Given the description of an element on the screen output the (x, y) to click on. 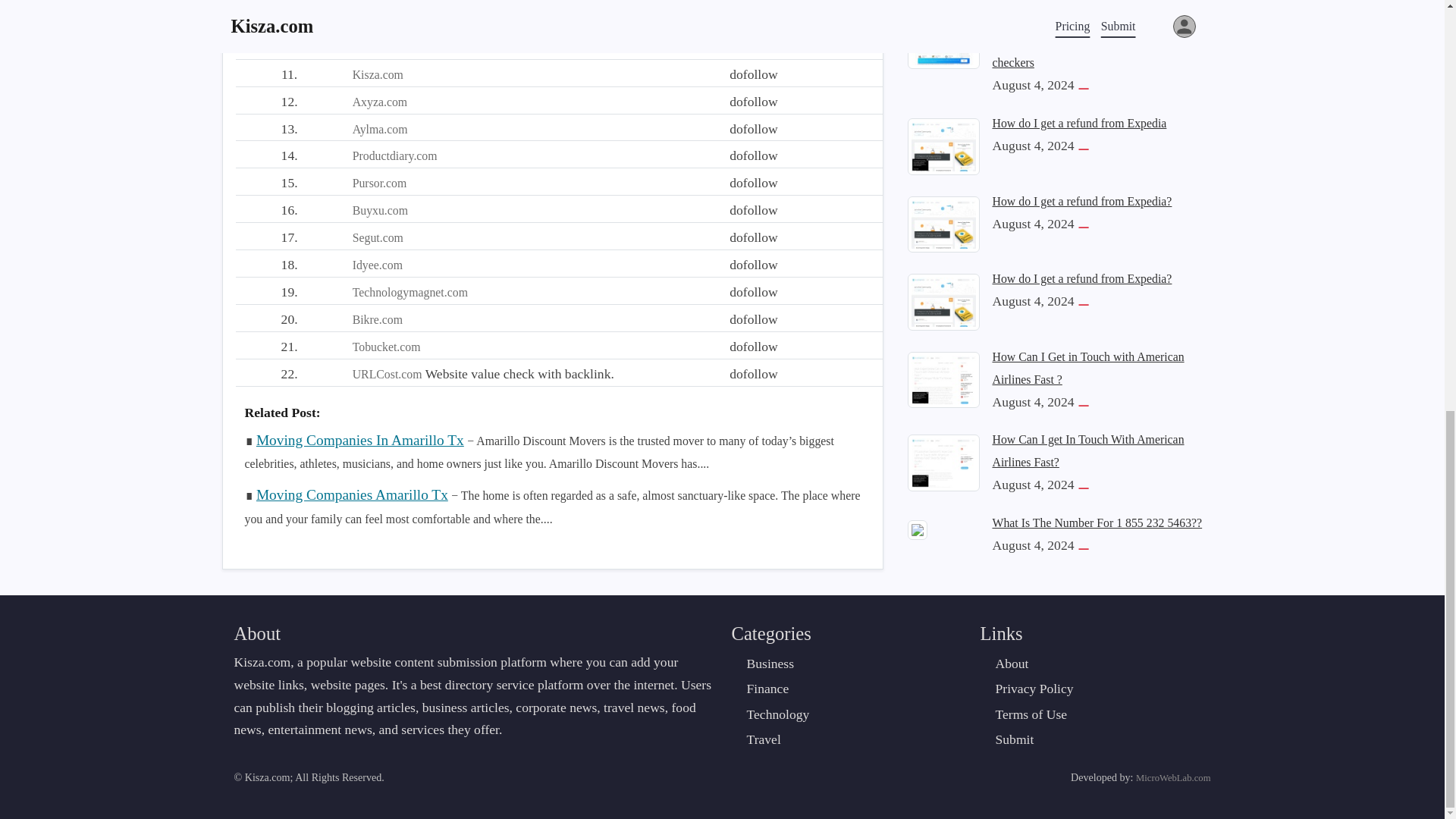
Kisza.com (377, 74)
Technologymagnet.com (409, 291)
How Can I get In Touch With American Airlines Fast? (1087, 9)
Segut.com (377, 237)
Xokki.com (379, 47)
Pursor.com (379, 182)
Productdiary.com (395, 155)
Buyxu.com (379, 210)
How Can I get In Touch With American Airlines Fast? (943, 11)
Moving Companies In Amarillo Tx (360, 439)
Xamly.com (379, 19)
Axyza.com (379, 101)
Aylma.com (379, 128)
Idyee.com (377, 264)
Moving Companies Amarillo Tx (352, 494)
